Given the description of an element on the screen output the (x, y) to click on. 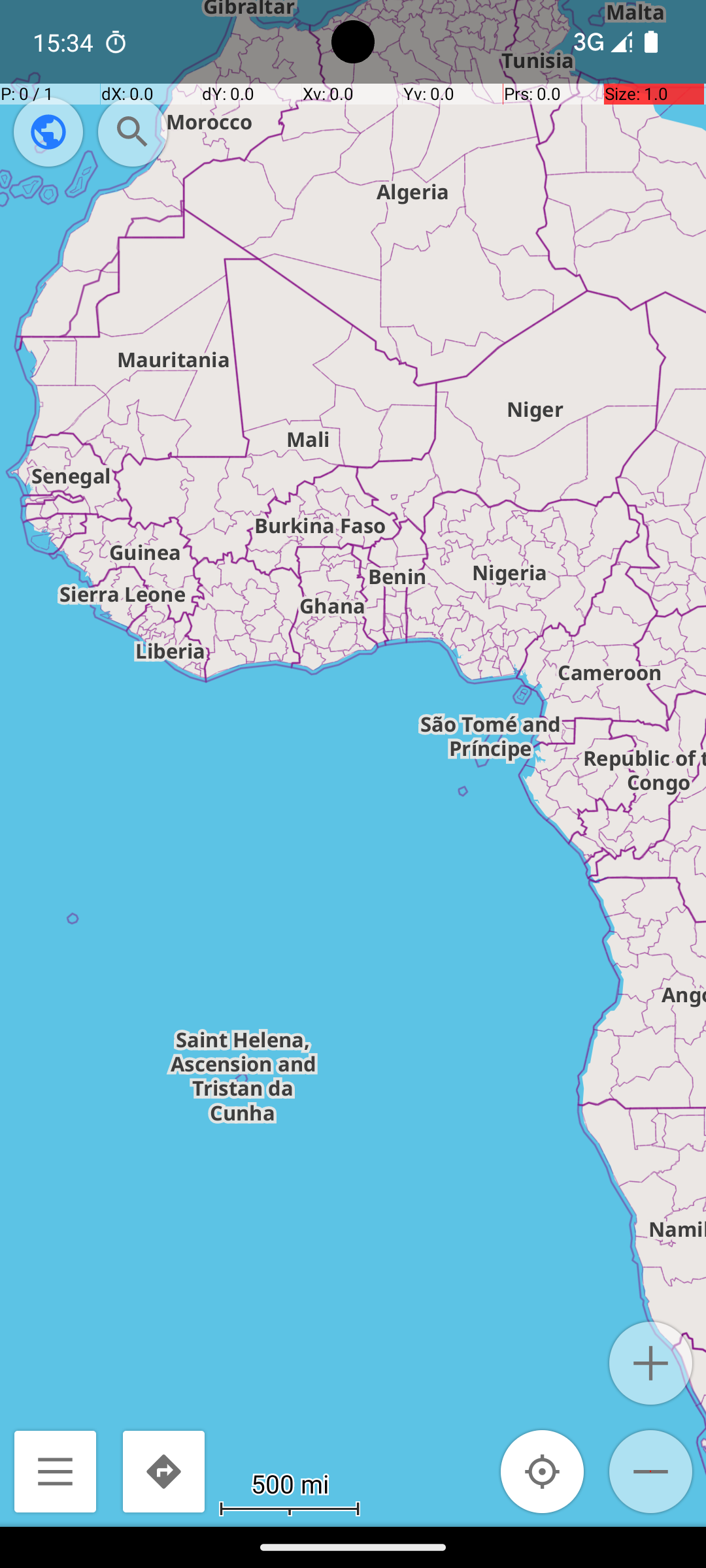
500 mi Element type: android.widget.TextView (289, 1483)
